Given the description of an element on the screen output the (x, y) to click on. 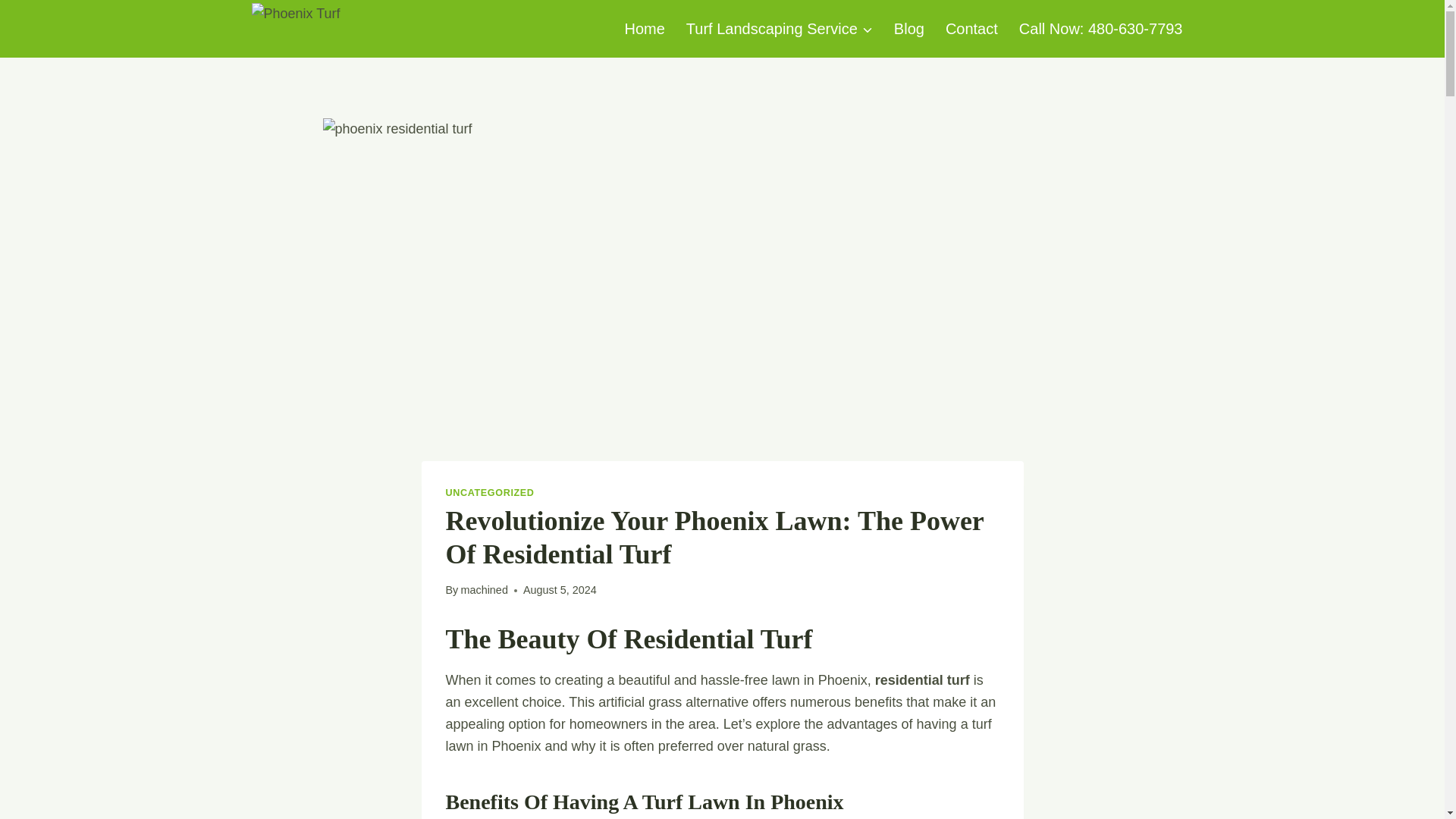
machined (483, 589)
Call Now: 480-630-7793 (1101, 28)
Contact (971, 28)
Turf Landscaping Service (779, 28)
Blog (908, 28)
Home (643, 28)
UNCATEGORIZED (489, 492)
